Given the description of an element on the screen output the (x, y) to click on. 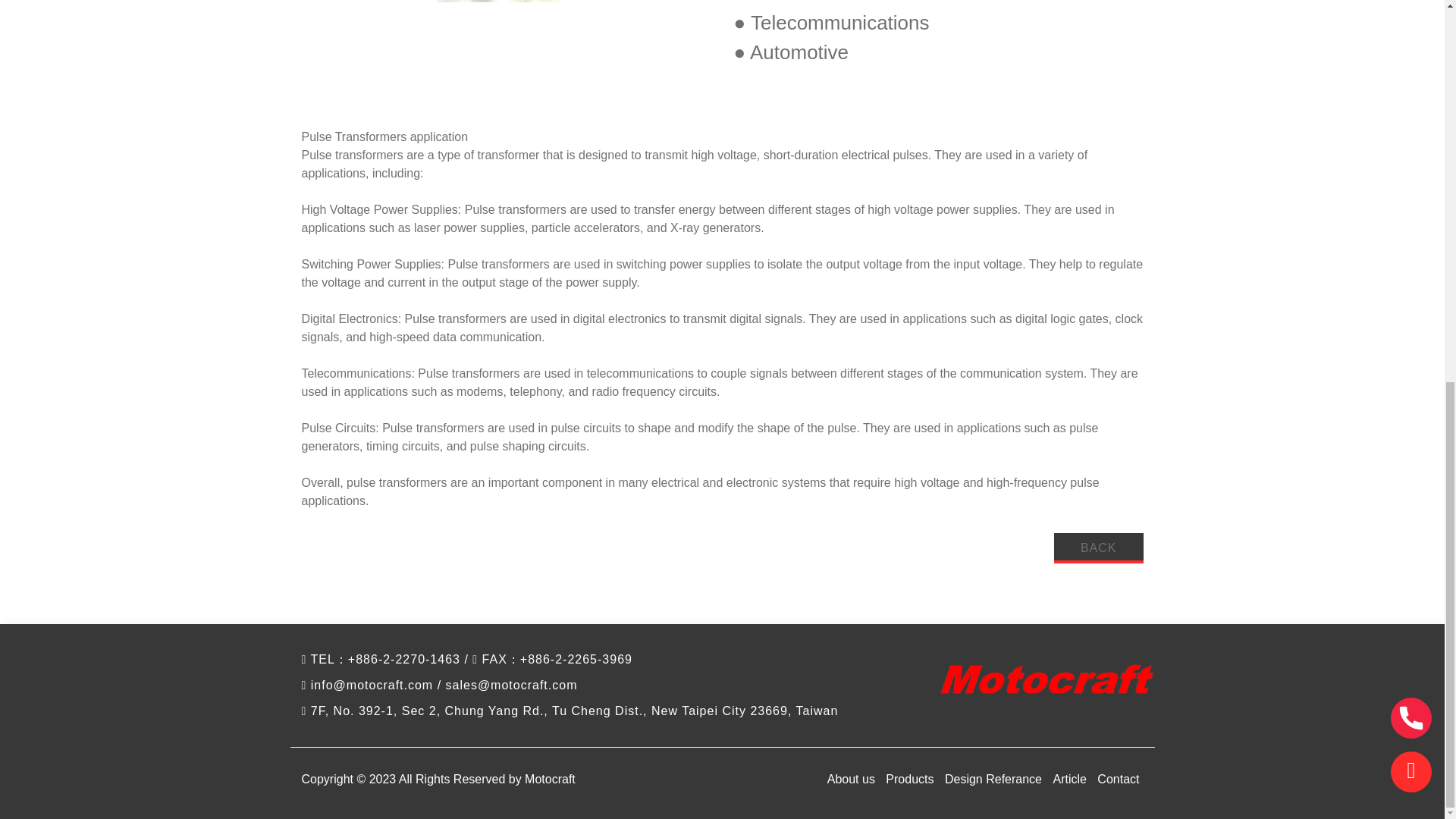
Contact (1117, 779)
Design Referance (992, 779)
BACK (1098, 548)
Products (909, 779)
Article (1068, 779)
About us (851, 779)
